Given the description of an element on the screen output the (x, y) to click on. 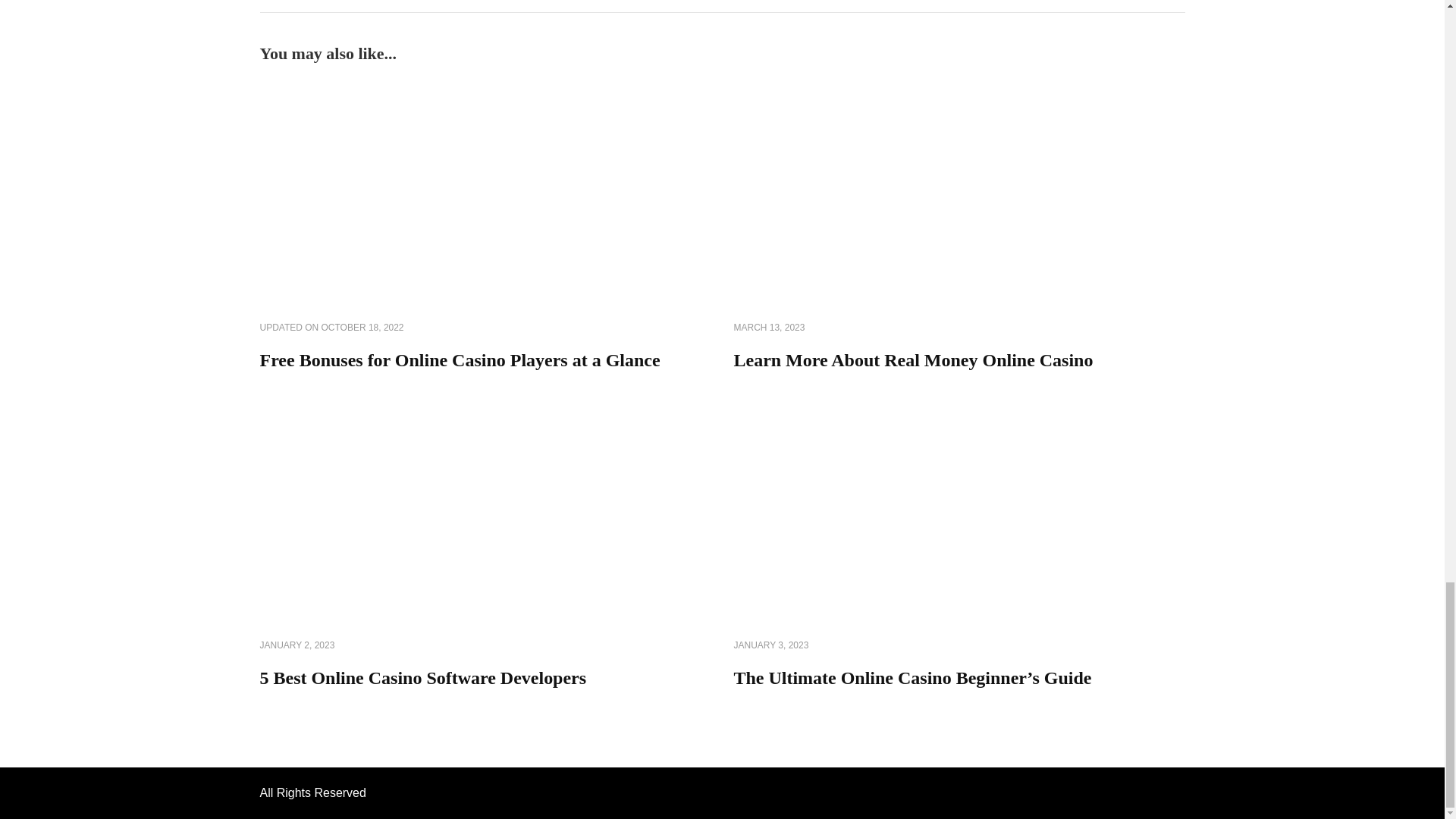
OCTOBER 18, 2022 (362, 327)
JANUARY 2, 2023 (296, 645)
Learn More About Real Money Online Casino (913, 360)
MARCH 13, 2023 (769, 327)
Free Bonuses for Online Casino Players at a Glance (459, 360)
5 Best Online Casino Software Developers (422, 677)
JANUARY 3, 2023 (771, 645)
